Given the description of an element on the screen output the (x, y) to click on. 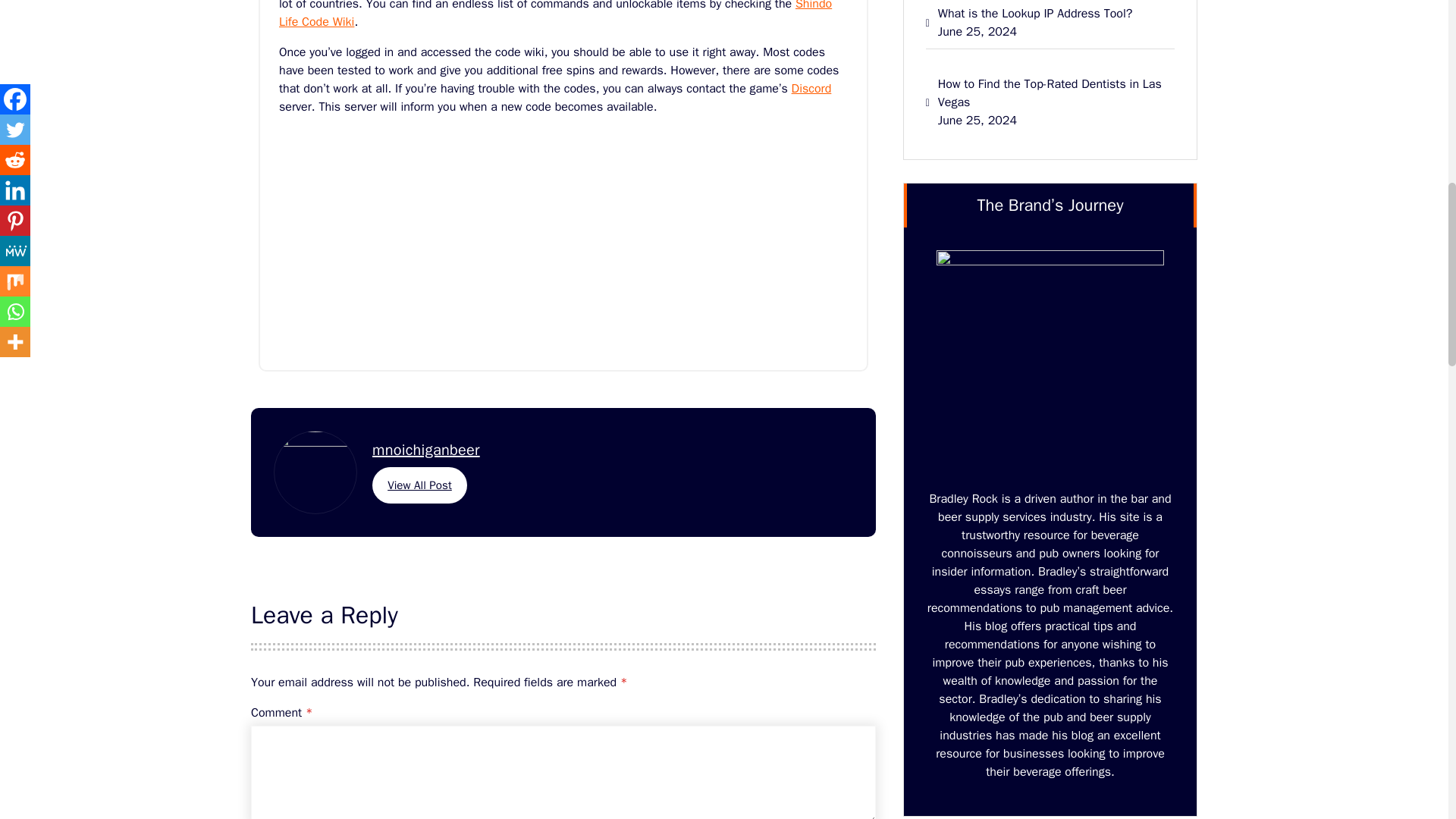
Shindo Life Code Wiki (555, 14)
Discord (811, 88)
